Given the description of an element on the screen output the (x, y) to click on. 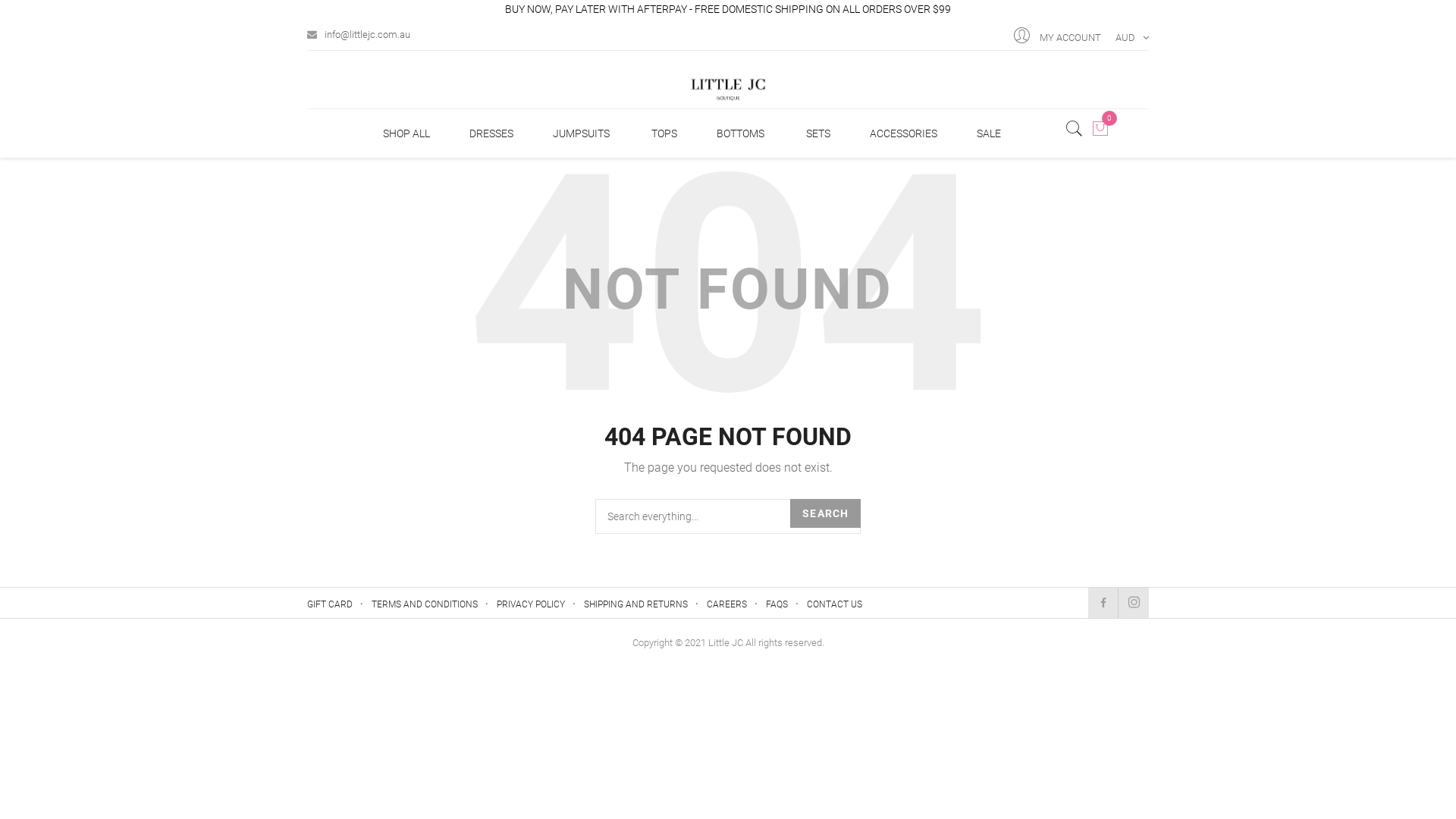
SEARCH Element type: text (825, 512)
SHOP ALL Element type: text (405, 133)
CAREERS Element type: text (726, 604)
ACCESSORIES Element type: text (903, 133)
DRESSES Element type: text (491, 133)
0 Element type: text (1099, 127)
MY ACCOUNT Element type: text (1070, 34)
CONTACT US Element type: text (834, 604)
Little JC on Facebook Element type: hover (1103, 602)
SALE Element type: text (988, 133)
Little JC on Instagram Element type: hover (1133, 602)
SETS Element type: text (818, 133)
BOTTOMS Element type: text (740, 133)
PRIVACY POLICY Element type: text (530, 604)
TOPS Element type: text (664, 133)
FAQS Element type: text (776, 604)
JUMPSUITS Element type: text (580, 133)
SHIPPING AND RETURNS Element type: text (635, 604)
TERMS AND CONDITIONS Element type: text (424, 604)
AUD Element type: text (1128, 34)
info@littlejc.com.au Element type: text (358, 30)
GIFT CARD Element type: text (329, 604)
